Given the description of an element on the screen output the (x, y) to click on. 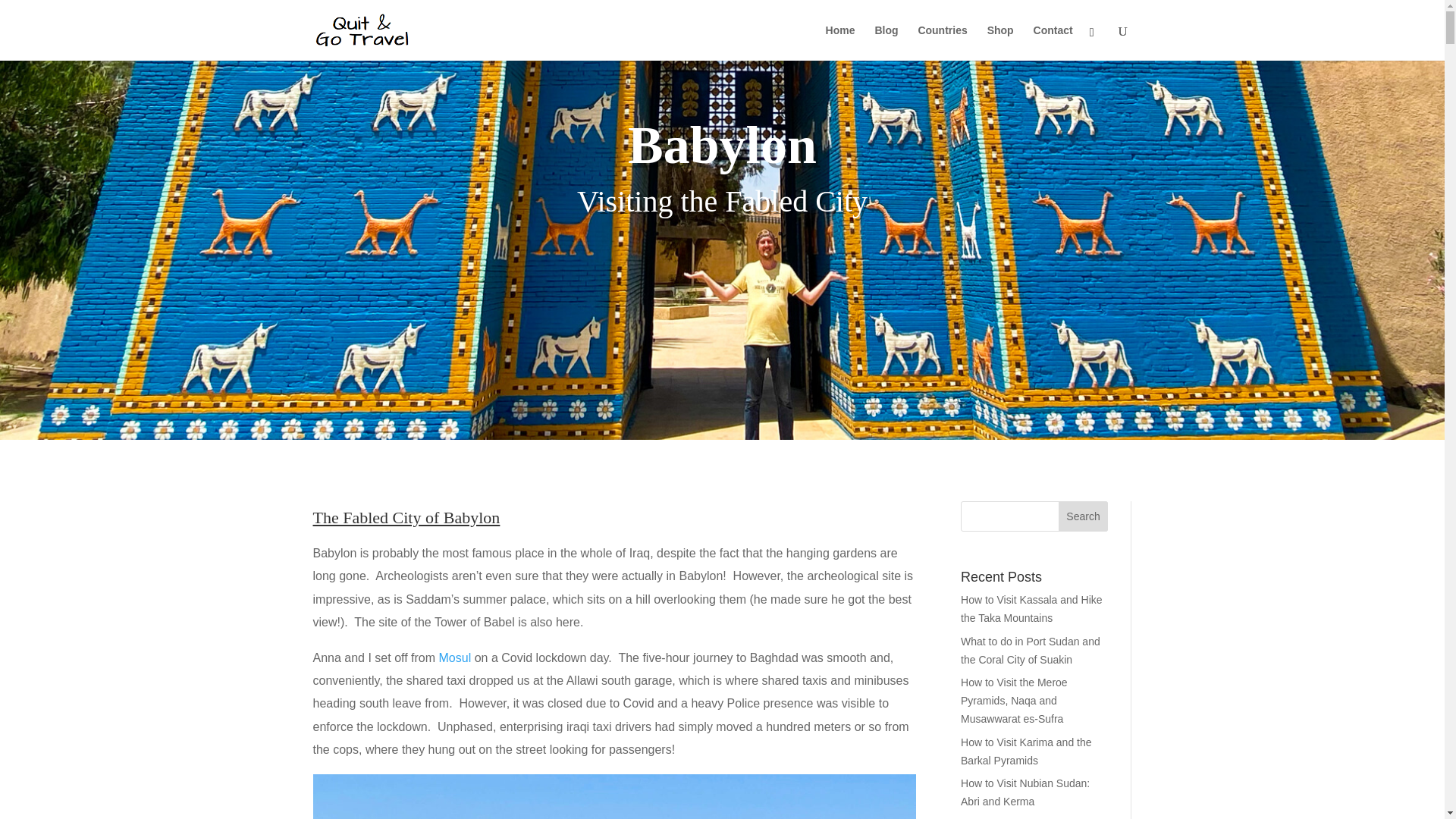
Mosul (455, 657)
How to Visit Karima and the Barkal Pyramids (1026, 751)
What to do in Port Sudan and the Coral City of Suakin (1030, 650)
How to Visit Kassala and Hike the Taka Mountains (1031, 608)
How to Visit Nubian Sudan: Abri and Kerma (1024, 792)
Search (1083, 516)
Contact (1053, 42)
Search (1083, 516)
Countries (941, 42)
